Given the description of an element on the screen output the (x, y) to click on. 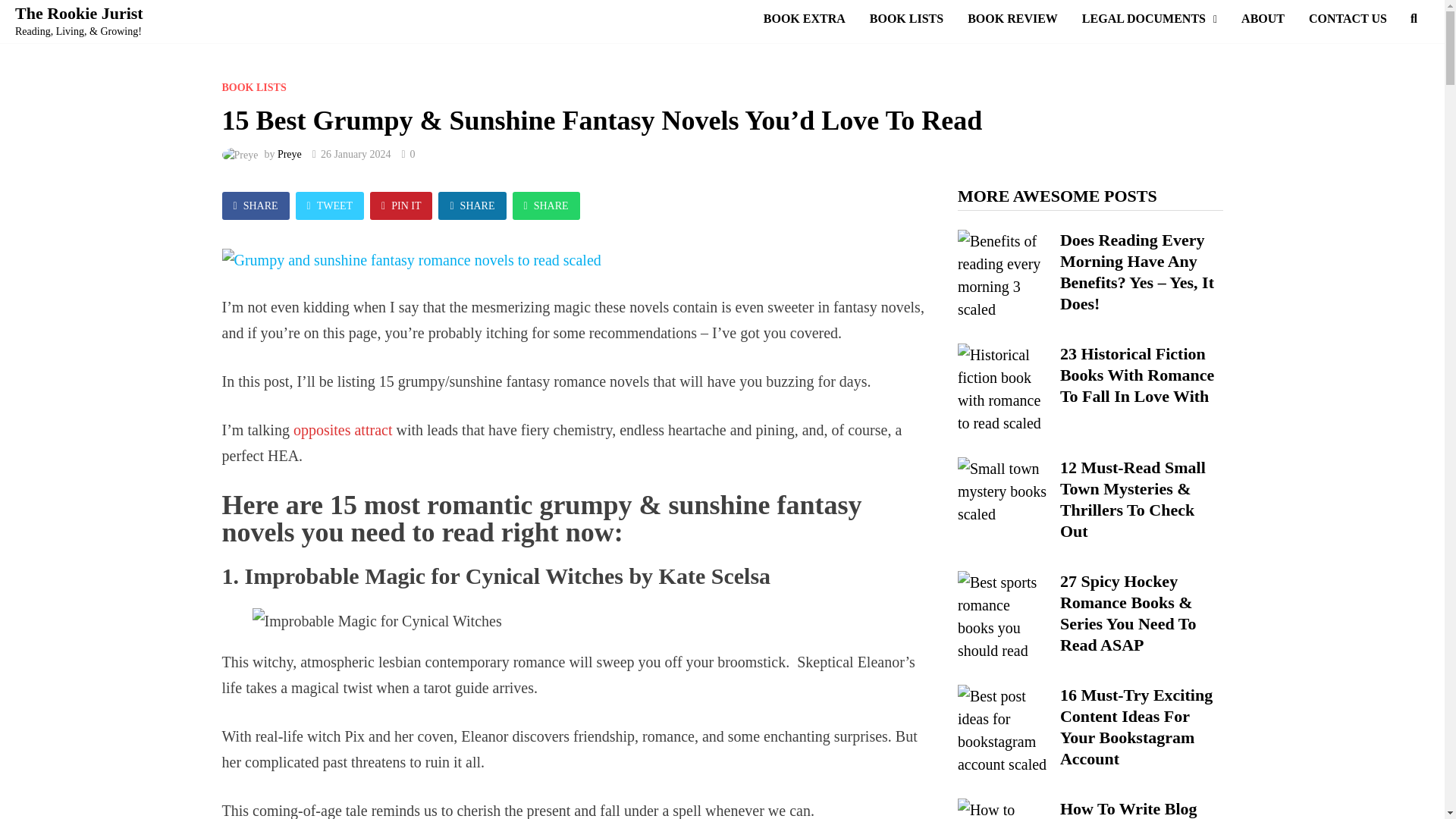
PIN IT (400, 205)
SHARE (471, 205)
ABOUT (1262, 19)
SHARE (545, 205)
LEGAL DOCUMENTS (1149, 19)
TWEET (330, 205)
The Rookie Jurist (78, 13)
26 January 2024 (355, 153)
BOOK EXTRA (804, 19)
Preye (289, 153)
BOOK REVIEW (1012, 19)
BOOK LISTS (906, 19)
SHARE (254, 205)
opposites attract (343, 429)
BOOK LISTS (253, 87)
